Given the description of an element on the screen output the (x, y) to click on. 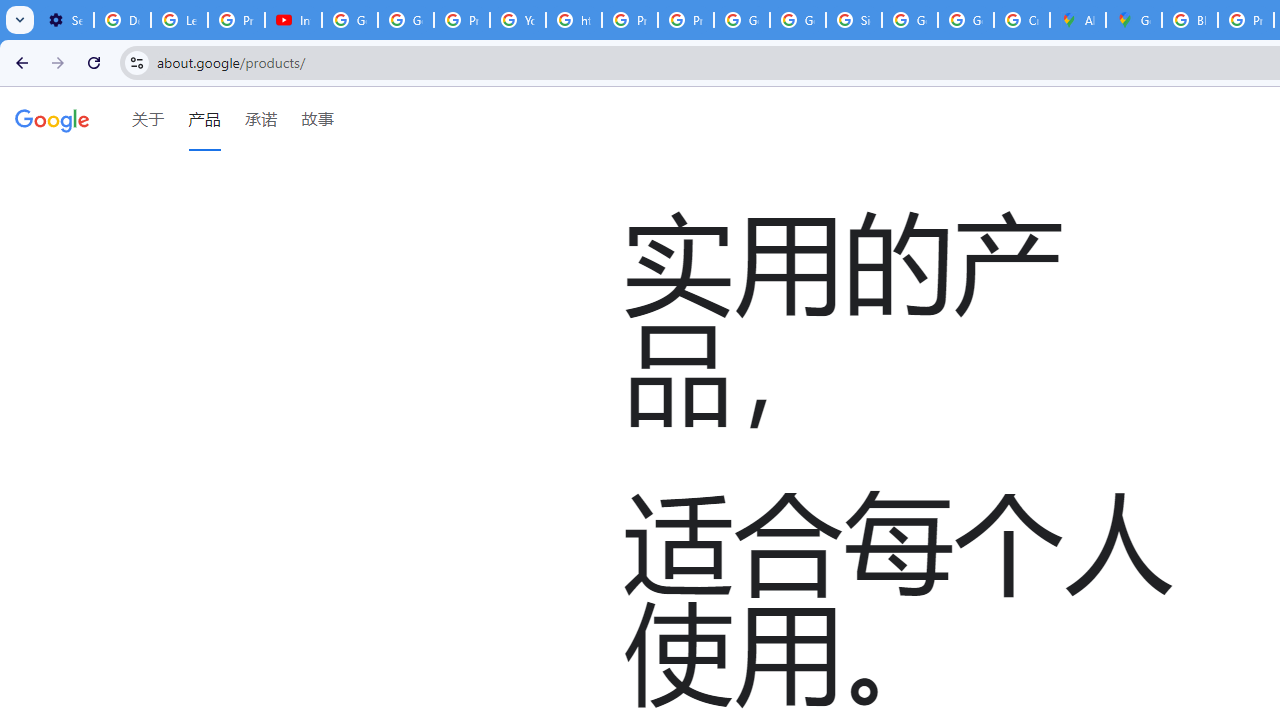
Delete photos & videos - Computer - Google Photos Help (122, 20)
Sign in - Google Accounts (853, 20)
Introduction | Google Privacy Policy - YouTube (293, 20)
Privacy Help Center - Policies Help (629, 20)
Privacy Help Center - Policies Help (461, 20)
